Given the description of an element on the screen output the (x, y) to click on. 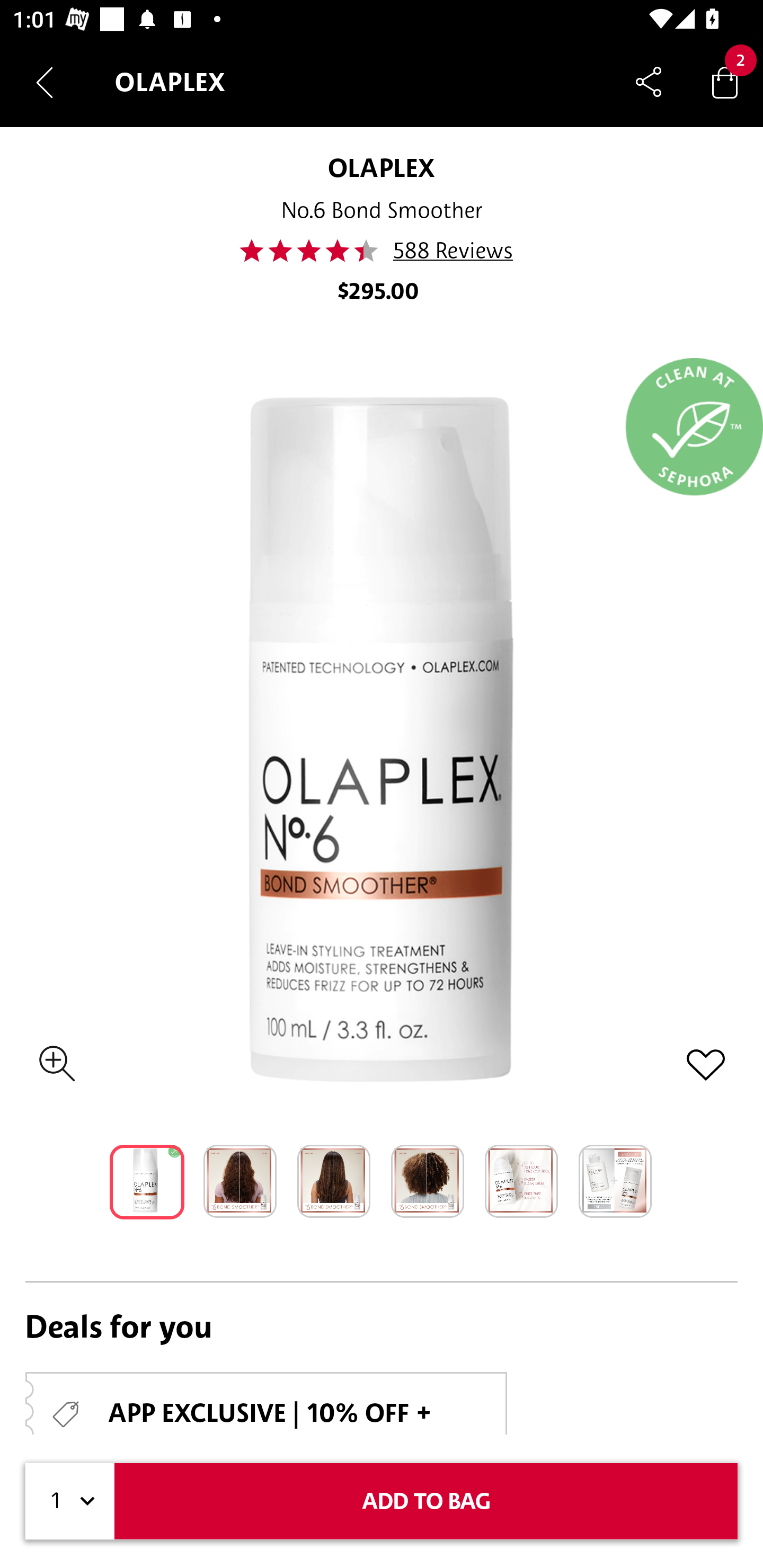
Navigate up (44, 82)
Share (648, 81)
Bag (724, 81)
OLAPLEX (381, 167)
44.0 588 Reviews (381, 250)
1 (69, 1500)
ADD TO BAG (425, 1500)
